Given the description of an element on the screen output the (x, y) to click on. 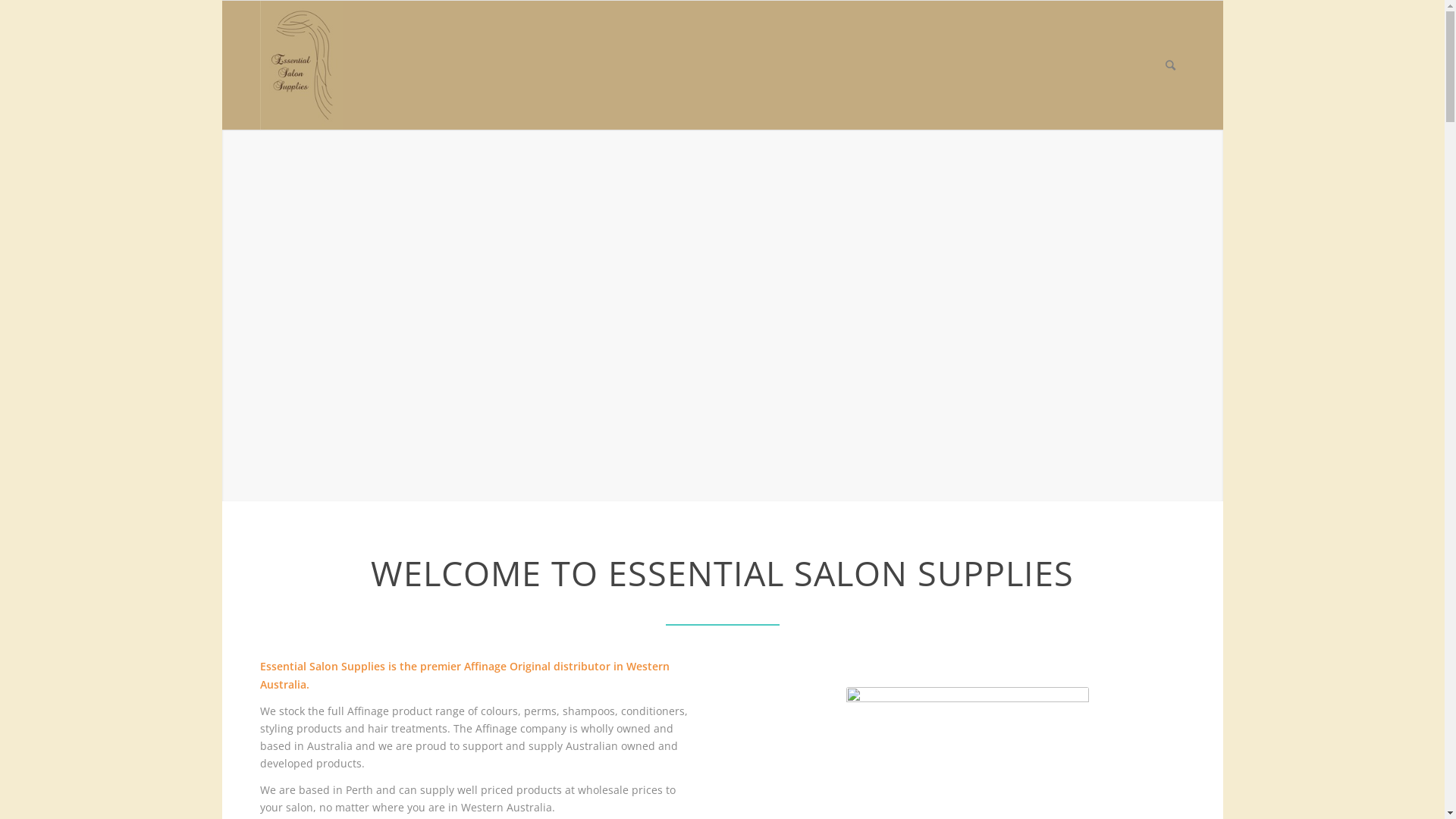
Affinage banner 1 Element type: hover (721, 314)
Affinage logo Element type: hover (967, 716)
